Given the description of an element on the screen output the (x, y) to click on. 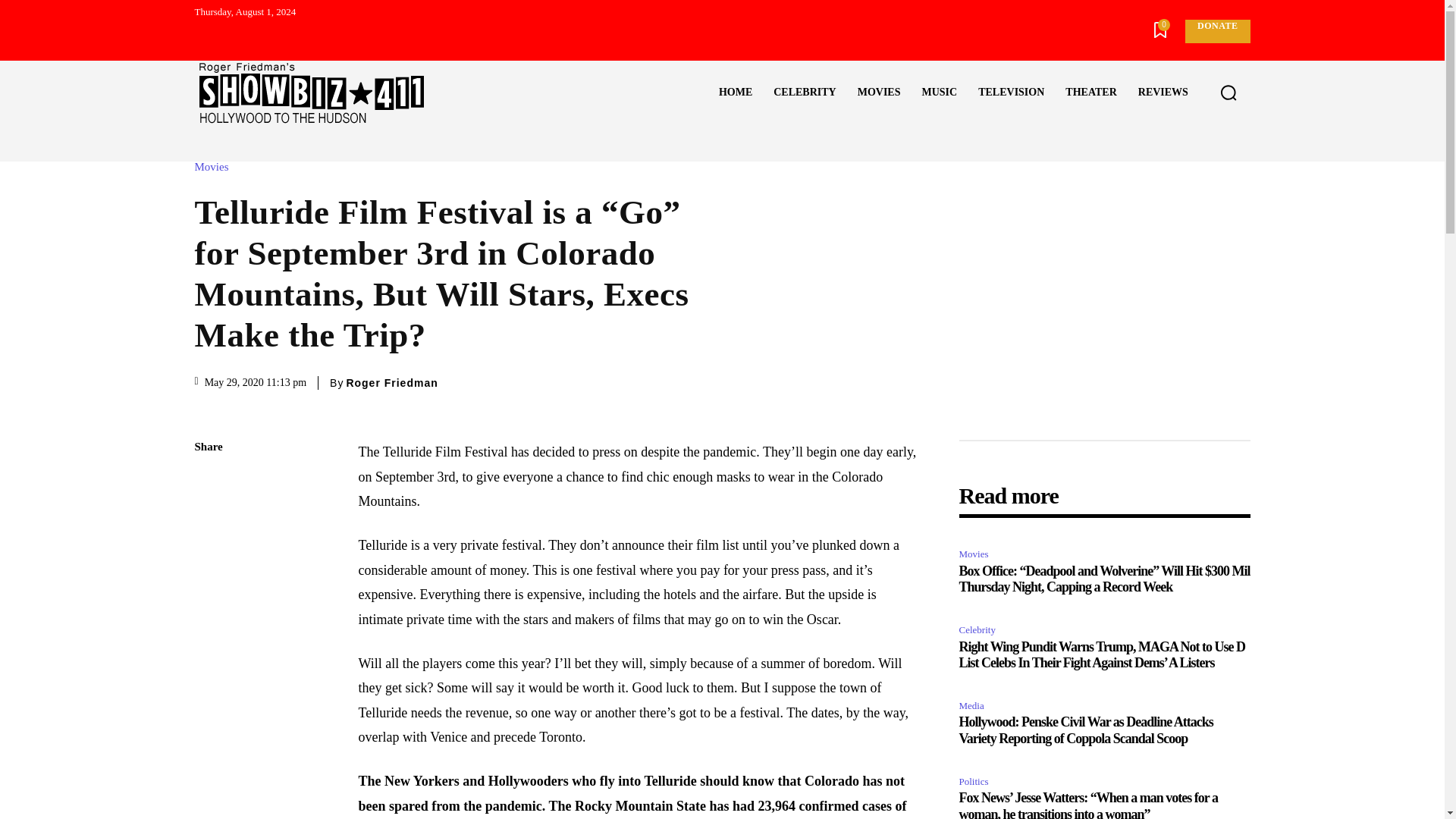
CELEBRITY (803, 92)
MOVIES (879, 92)
Donate (1217, 31)
Movies (214, 166)
DONATE (1217, 31)
HOME (734, 92)
MUSIC (939, 92)
TELEVISION (1011, 92)
THEATER (1090, 92)
REVIEWS (1162, 92)
